Given the description of an element on the screen output the (x, y) to click on. 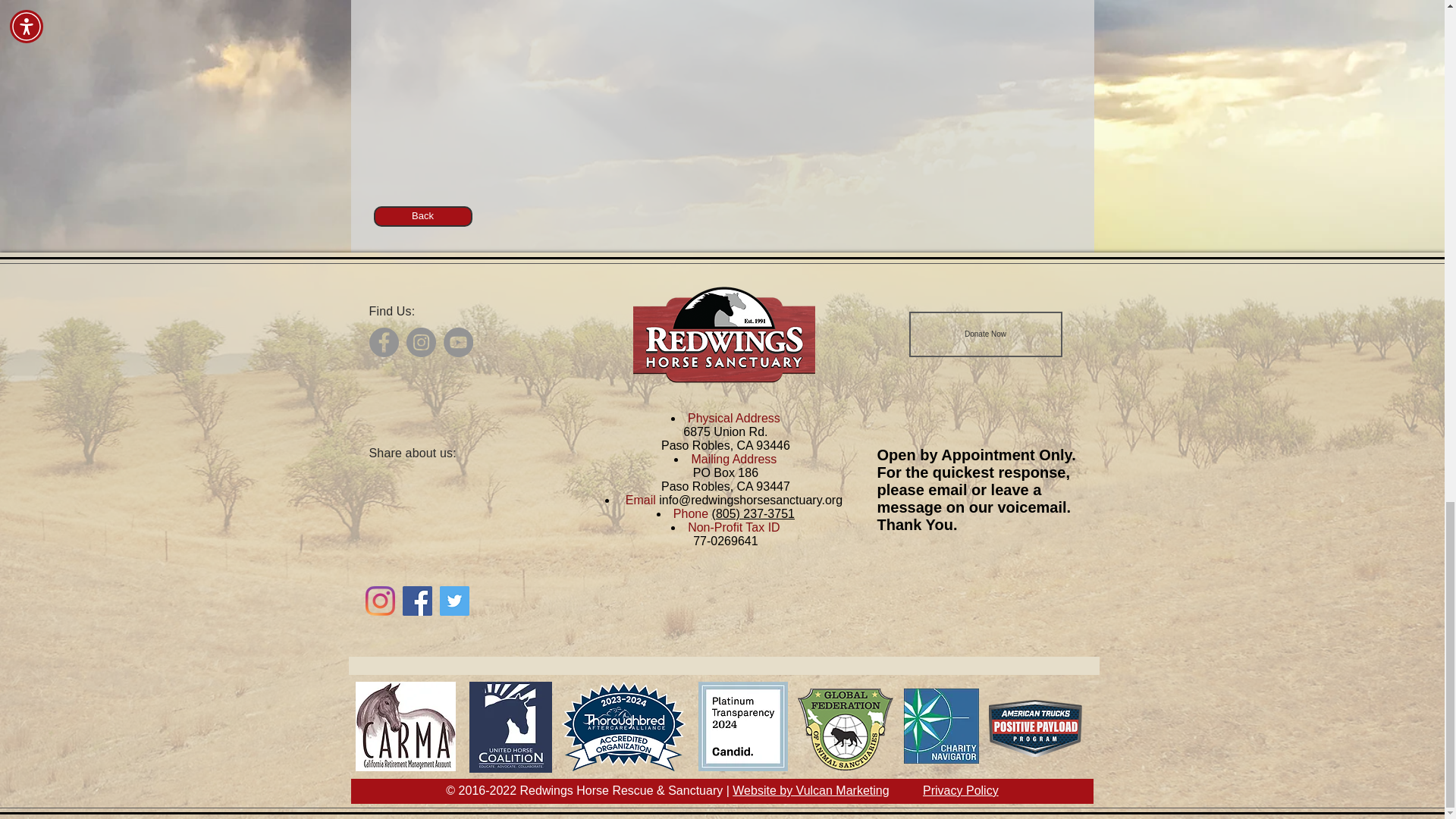
Donate Now (984, 334)
Back (421, 216)
